Given the description of an element on the screen output the (x, y) to click on. 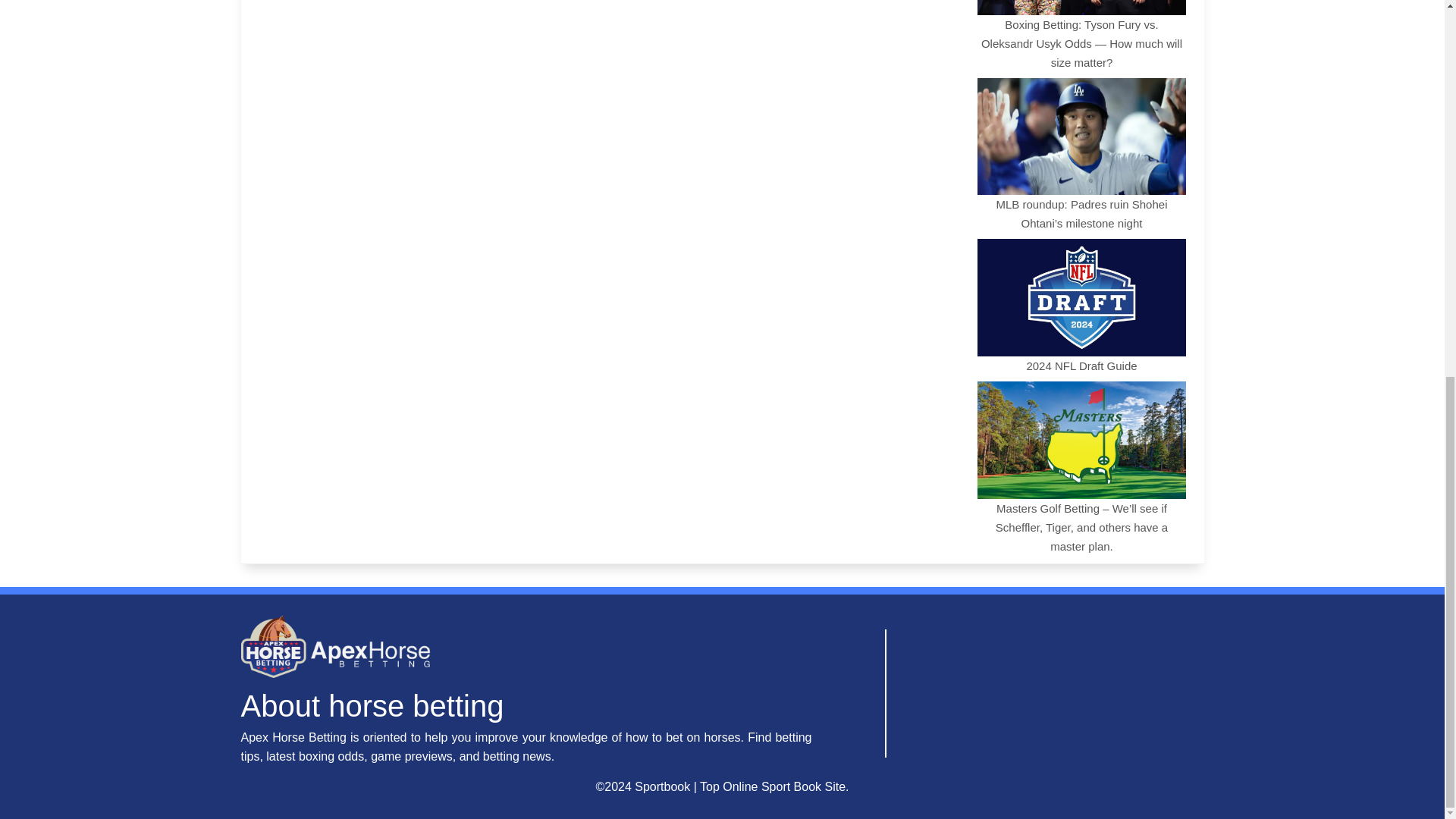
2024 NFL Draft Guide (1081, 305)
